Given the description of an element on the screen output the (x, y) to click on. 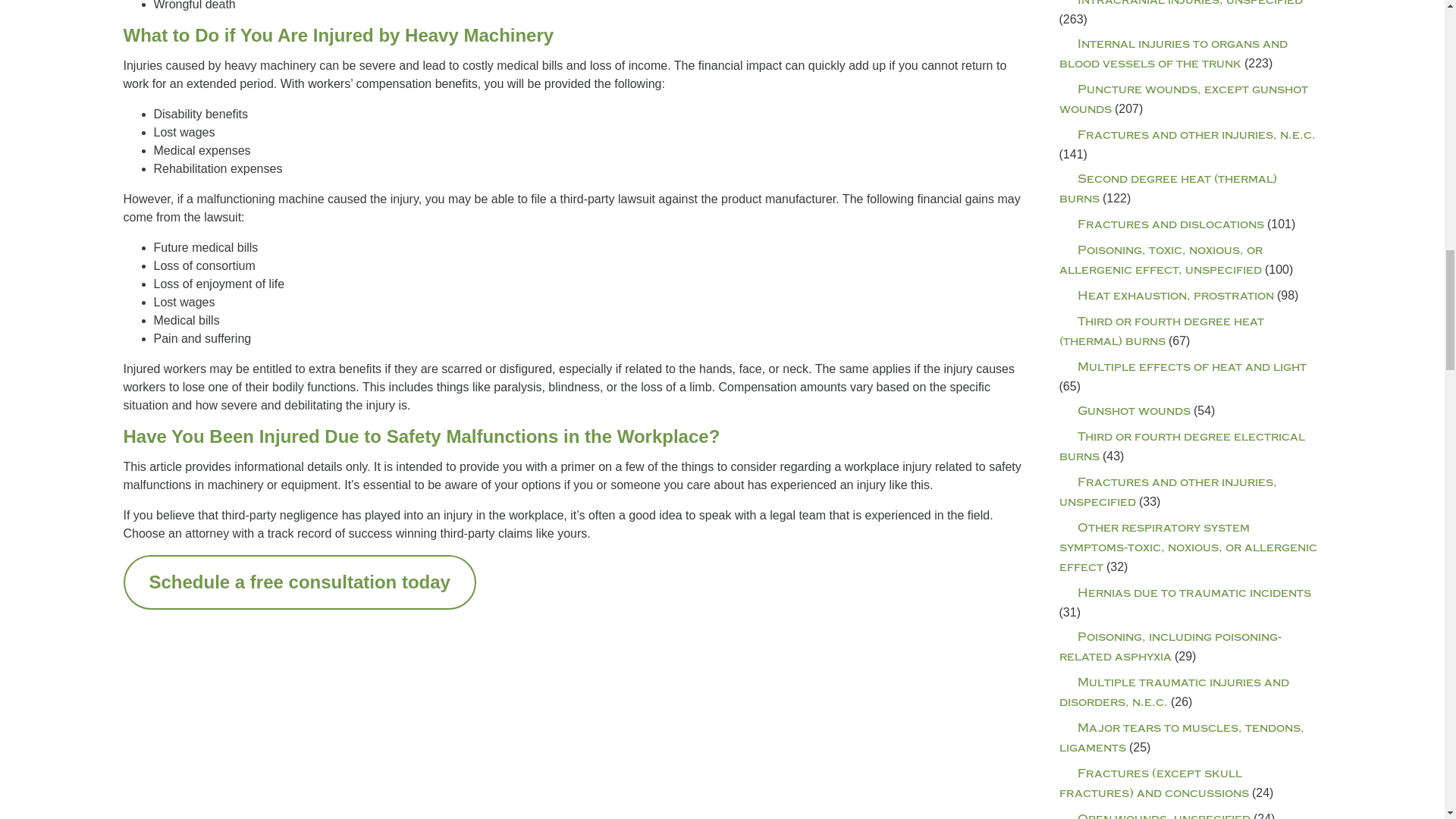
Intracranial injuries, unspecified (1179, 3)
Internal injuries to organs and blood vessels of the trunk (1172, 53)
Schedule a free consultation today (299, 582)
Puncture wounds, except gunshot wounds (1182, 99)
Fractures and other injuries, n.e.c. (1186, 134)
